Given the description of an element on the screen output the (x, y) to click on. 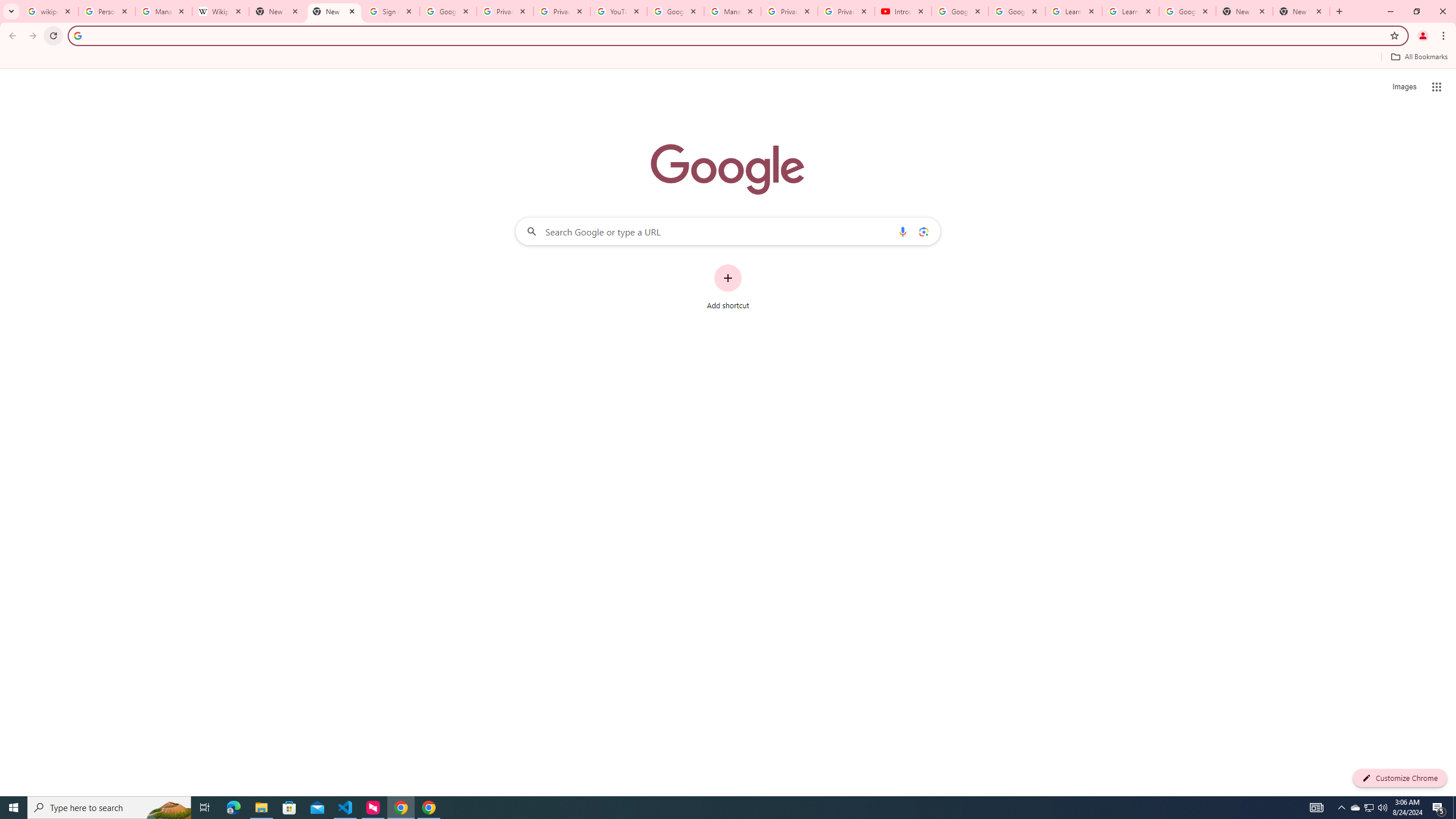
New Tab (334, 11)
Google Account (1187, 11)
Sign in - Google Accounts (391, 11)
